Given the description of an element on the screen output the (x, y) to click on. 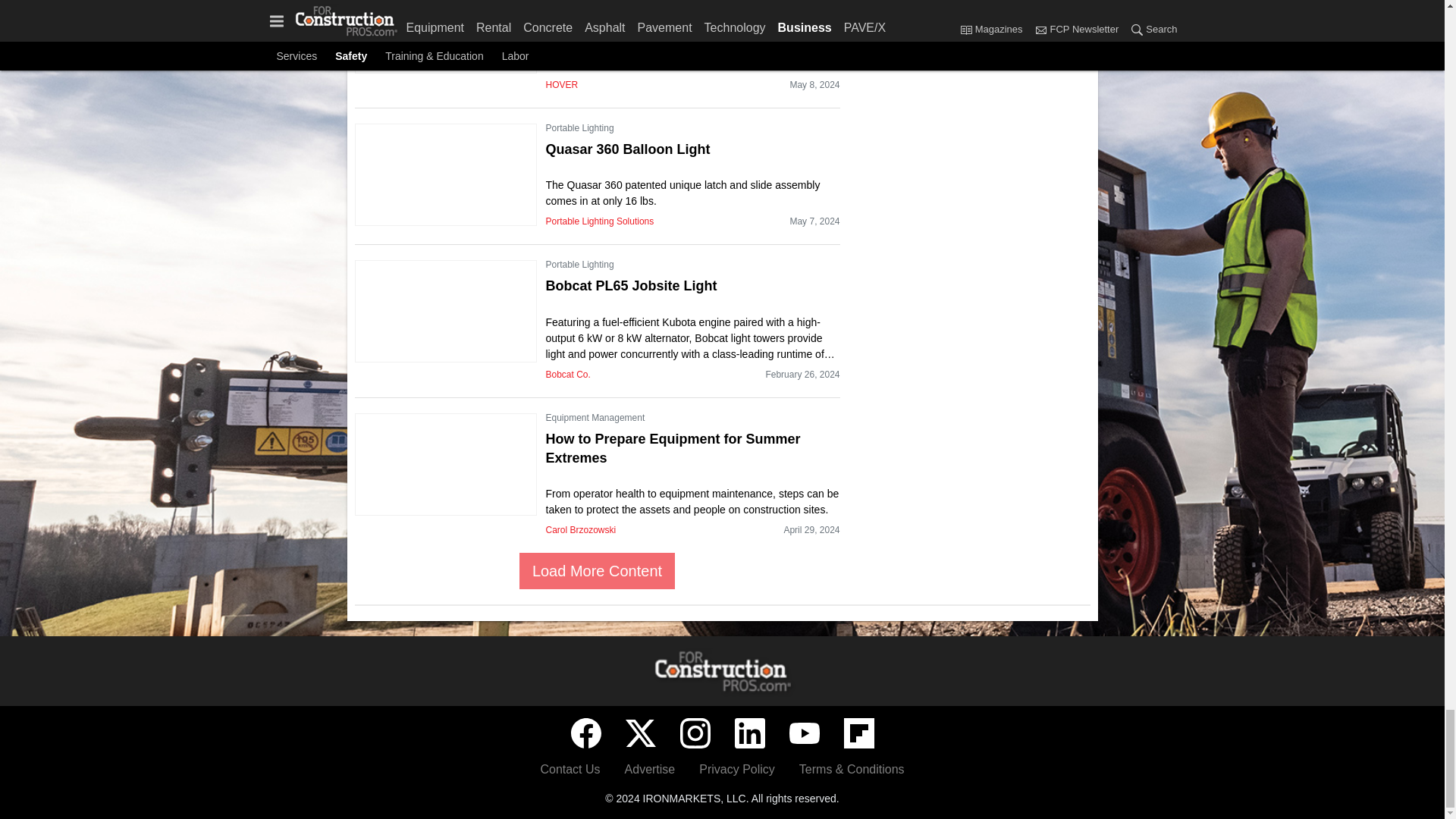
YouTube icon (803, 733)
Instagram icon (694, 733)
Flipboard icon (858, 733)
Facebook icon (584, 733)
LinkedIn icon (748, 733)
Twitter X icon (639, 733)
